Given the description of an element on the screen output the (x, y) to click on. 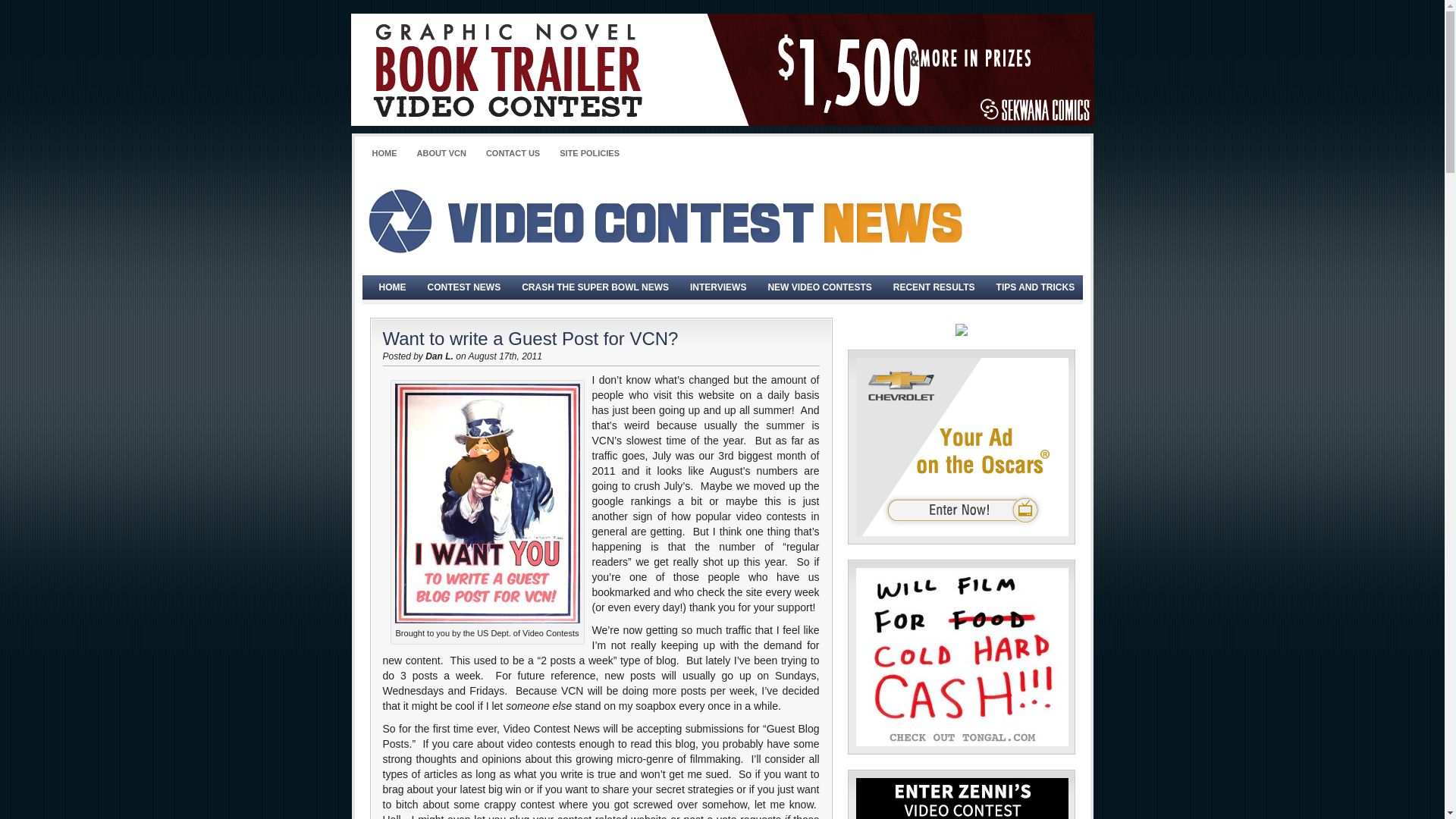
NEW VIDEO CONTESTS (819, 287)
HOME (384, 153)
RECENT RESULTS (933, 287)
View all posts filed under Crash the Super Bowl News (595, 287)
View all posts filed under Interviews (718, 287)
TIPS AND TRICKS (1035, 287)
View all posts filed under New Video Contests (819, 287)
View all posts filed under contest news (465, 287)
SITE POLICIES (589, 153)
8D339247-E8B0-4ADC-BF5F-B474BE8A5F7B (961, 446)
HOME (391, 287)
CONTACT US (513, 153)
INTERVIEWS (718, 287)
View all posts filed under Tips and Tricks (1035, 287)
ABOUT VCN (441, 153)
